Given the description of an element on the screen output the (x, y) to click on. 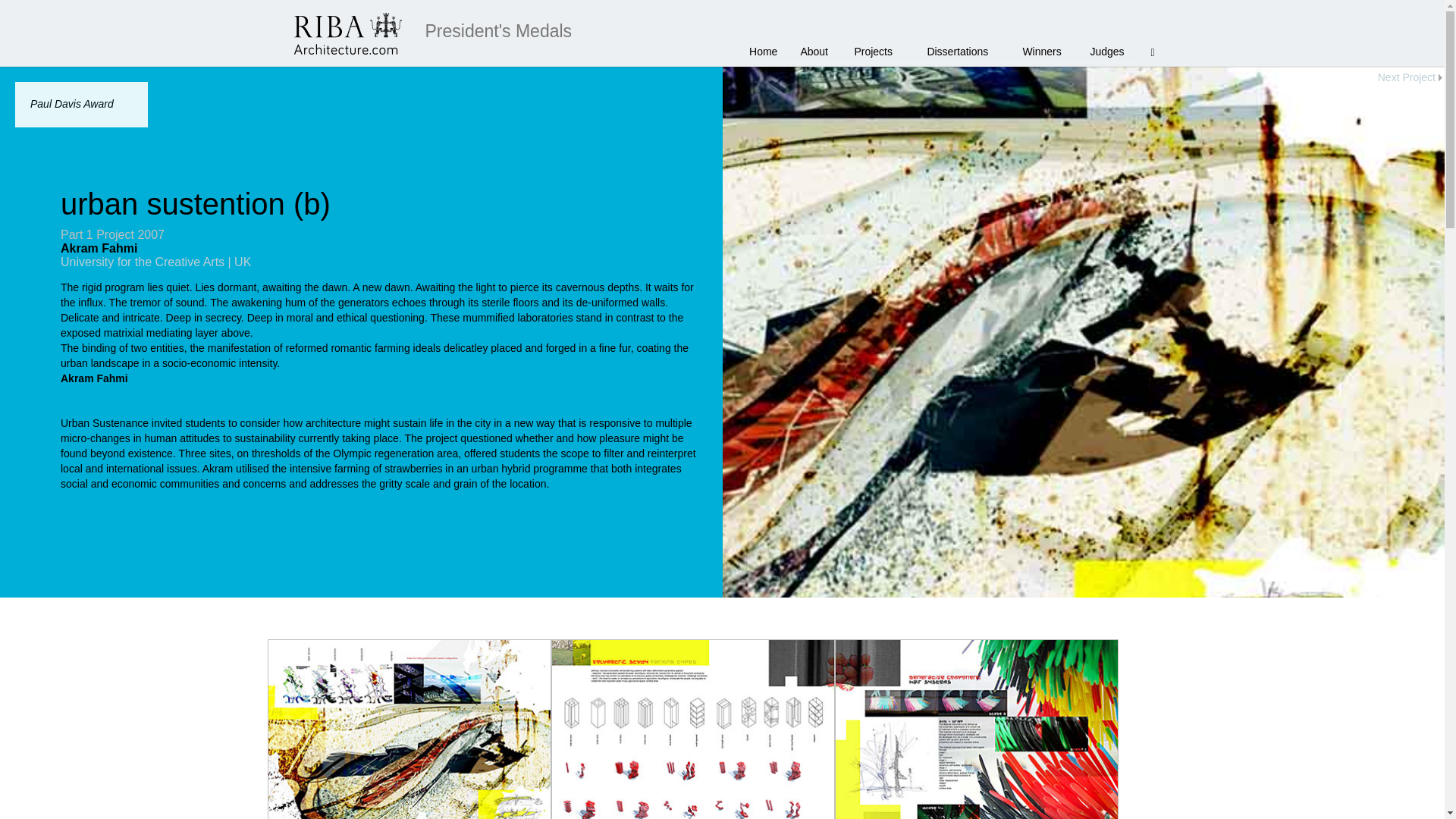
volumetric study into reconfiguring spatial correctness (692, 729)
conceptual visualisation of the created urban landscape (408, 729)
Home (769, 46)
Projects (879, 46)
Winners (1044, 46)
Next Project (1082, 77)
Judges (1108, 46)
About (816, 46)
President's Medals (498, 23)
Dissertations (962, 46)
